Given the description of an element on the screen output the (x, y) to click on. 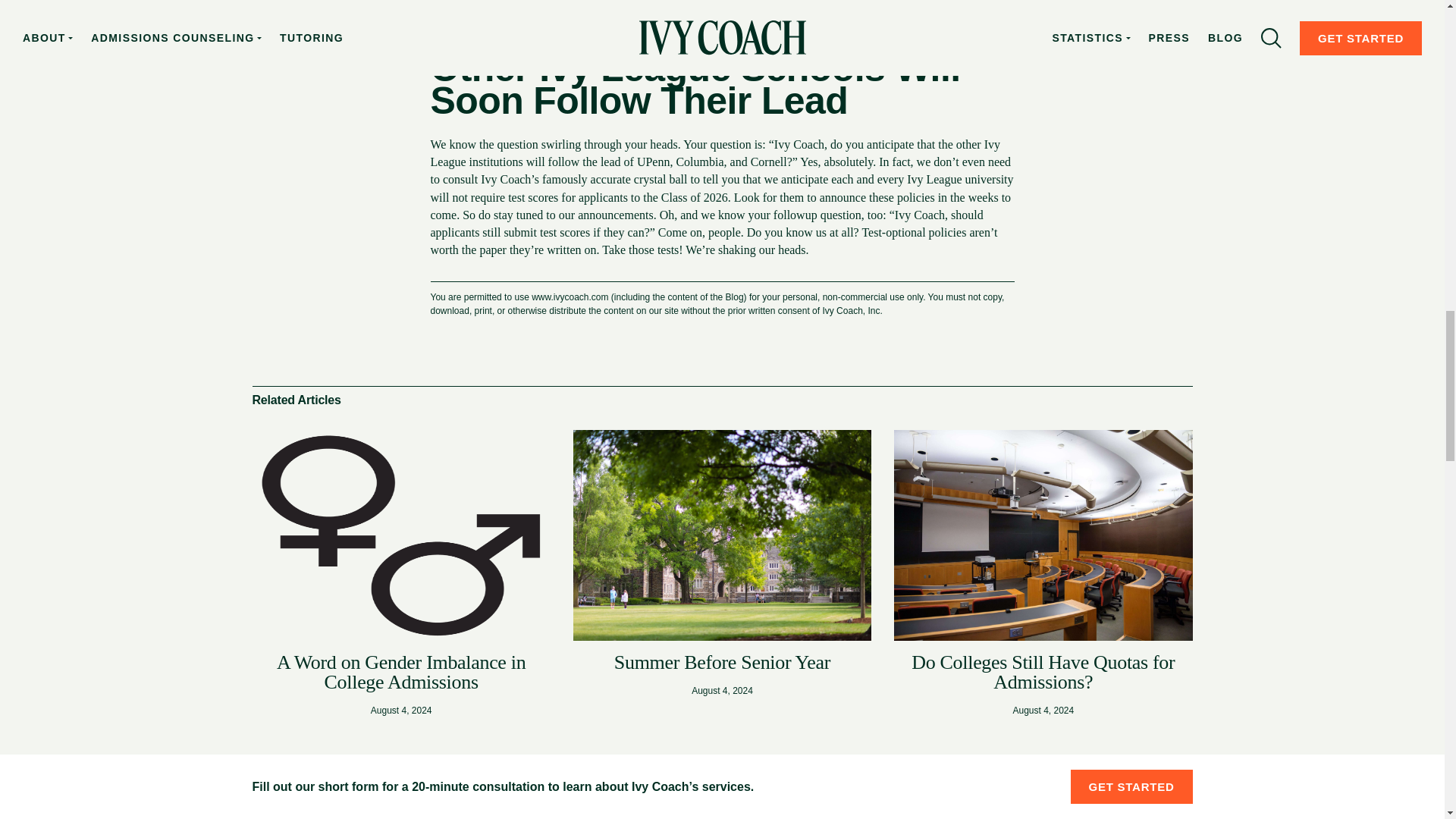
Summer Before Senior Year (721, 662)
Do Colleges Still Have Quotas for Admissions? (1042, 671)
A Word on Gender Imbalance in College Admissions (400, 671)
